Given the description of an element on the screen output the (x, y) to click on. 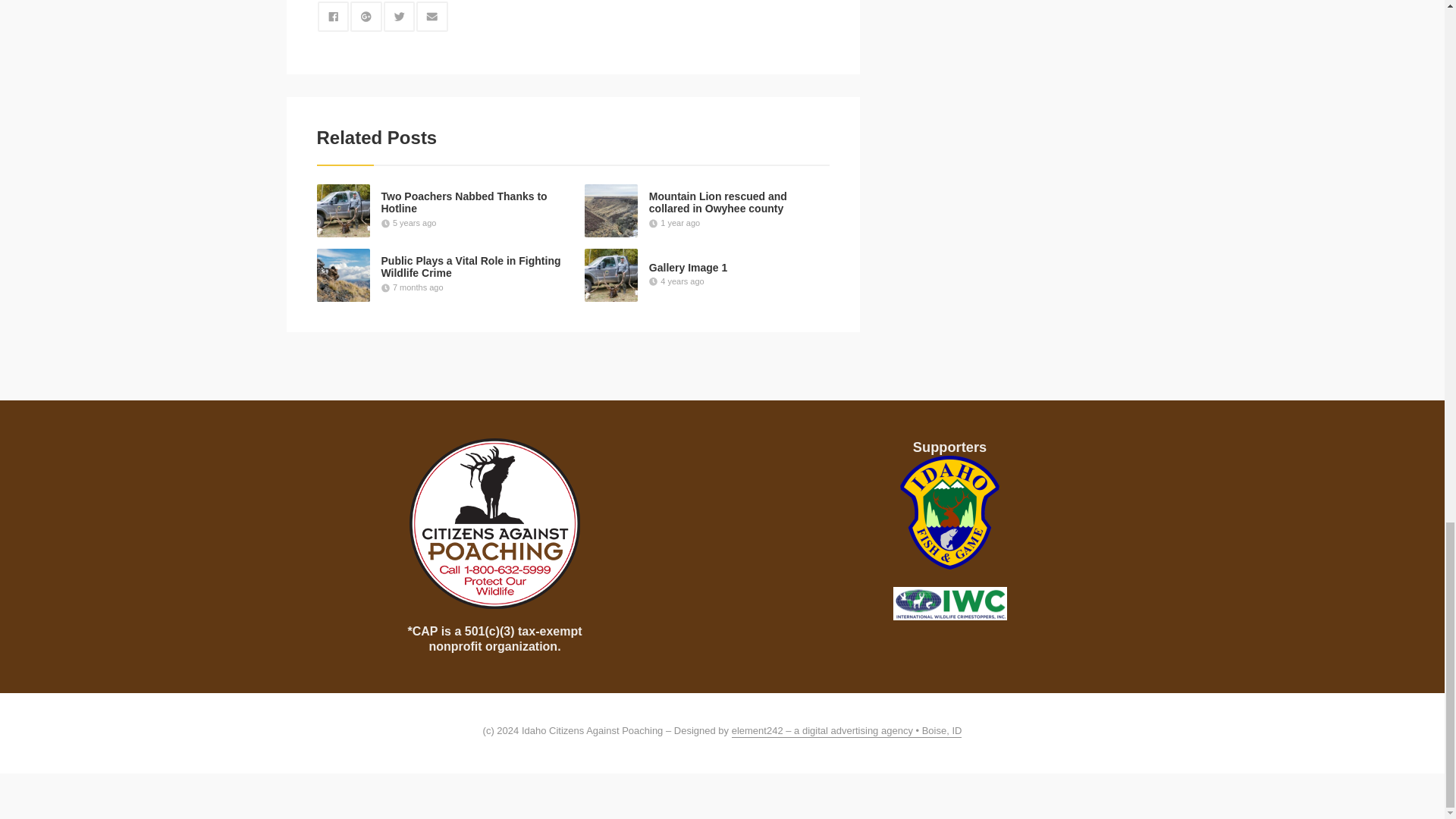
Share this on Twitter (399, 16)
Public Plays a Vital Role in Fighting Wildlife Crime (470, 267)
SuccessPostImageTest (611, 275)
Public Plays a Vital Role in Fighting Wildlife Crime (470, 267)
Mountain Lion rescued and collared in Owyhee county (718, 202)
element242 (847, 730)
SuccessPostImageTest (343, 210)
Two Poachers Nabbed Thanks to Hotline (463, 202)
Share this via Email (432, 16)
Gallery Image 1 (688, 266)
Mountain Lion rescued and collared in Owyhee county (718, 202)
Share this on Facebook (333, 16)
Two Poachers Nabbed Thanks to Hotline (463, 202)
Gallery Image 1 (688, 266)
